Given the description of an element on the screen output the (x, y) to click on. 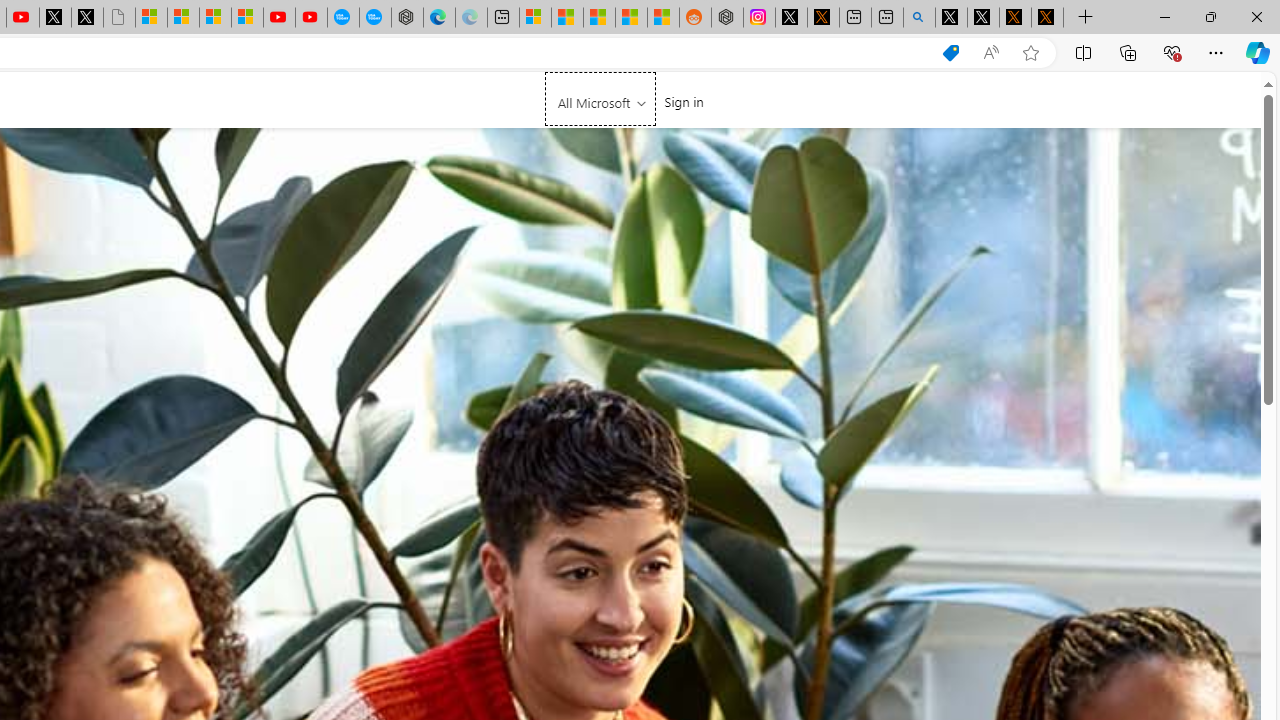
Sign in (684, 101)
github - Search (919, 17)
Shanghai, China weather forecast | Microsoft Weather (566, 17)
Microsoft account | Microsoft Account Privacy Settings (535, 17)
Profile / X (950, 17)
